Given the description of an element on the screen output the (x, y) to click on. 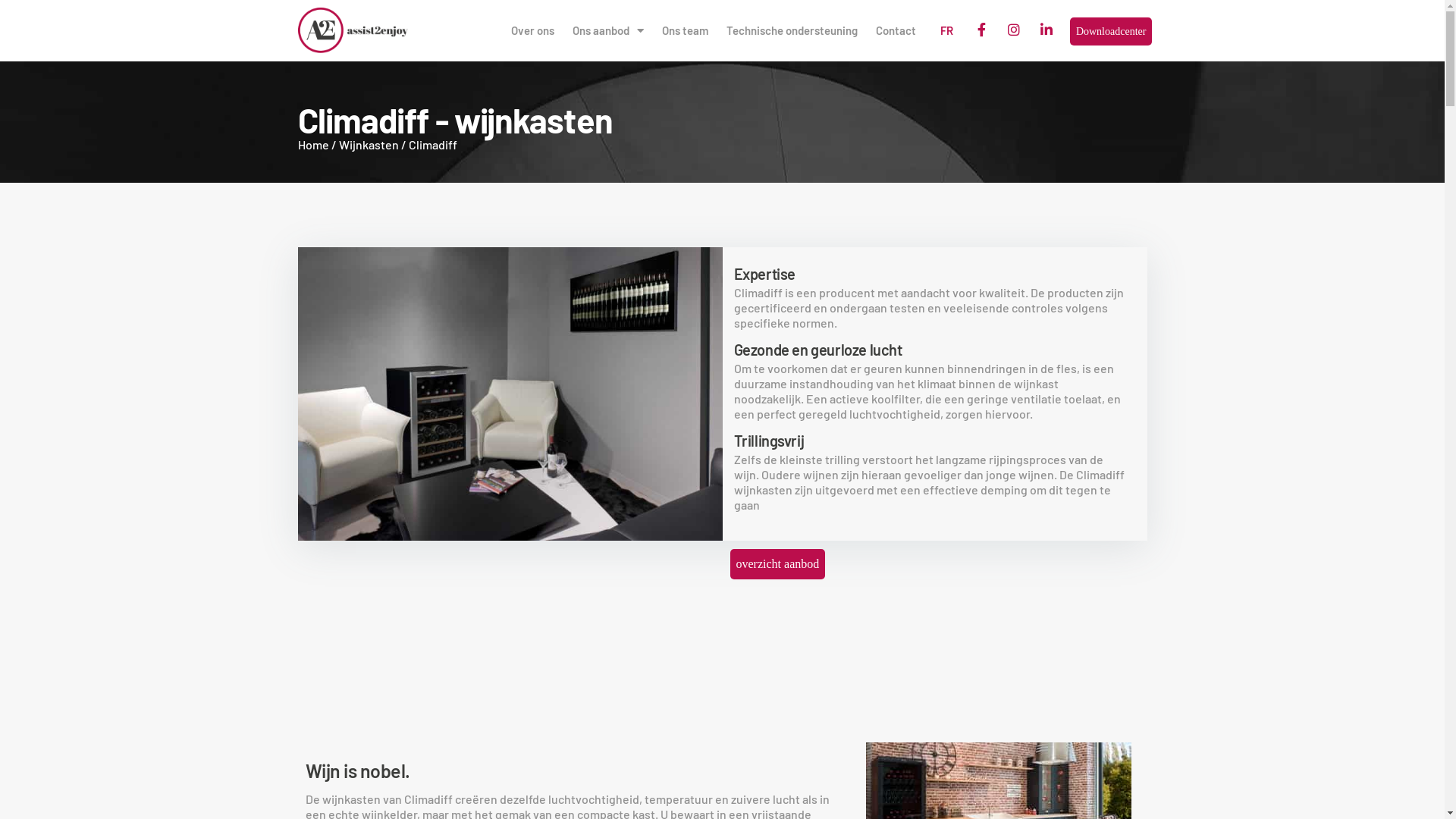
Over ons Element type: text (532, 30)
Contact Element type: text (895, 30)
Ons team Element type: text (684, 30)
Ons aanbod Element type: text (607, 30)
Technische ondersteuning Element type: text (791, 30)
Downloadcenter Element type: text (1111, 31)
overzicht aanbod Element type: text (777, 564)
Wijnkasten Element type: text (368, 144)
FR Element type: text (946, 30)
Home Element type: text (312, 144)
